Given the description of an element on the screen output the (x, y) to click on. 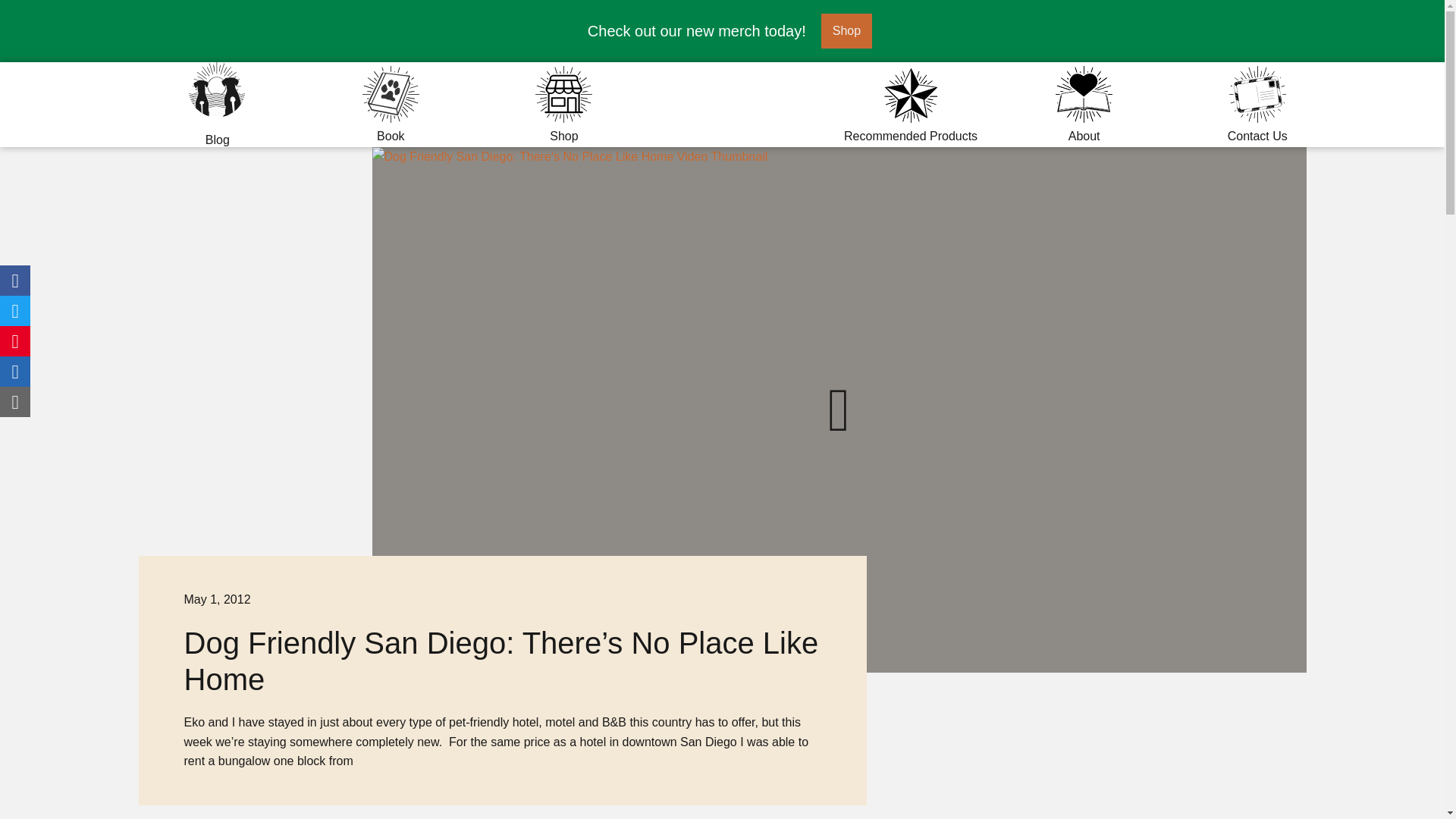
Share via Email (1256, 104)
Share on Twitter (15, 401)
icon-book (15, 310)
icon-store (390, 94)
Share on Pinterest (563, 94)
Share on Facebook (15, 340)
Share on Facebook (15, 280)
icon-contact (563, 104)
